Given the description of an element on the screen output the (x, y) to click on. 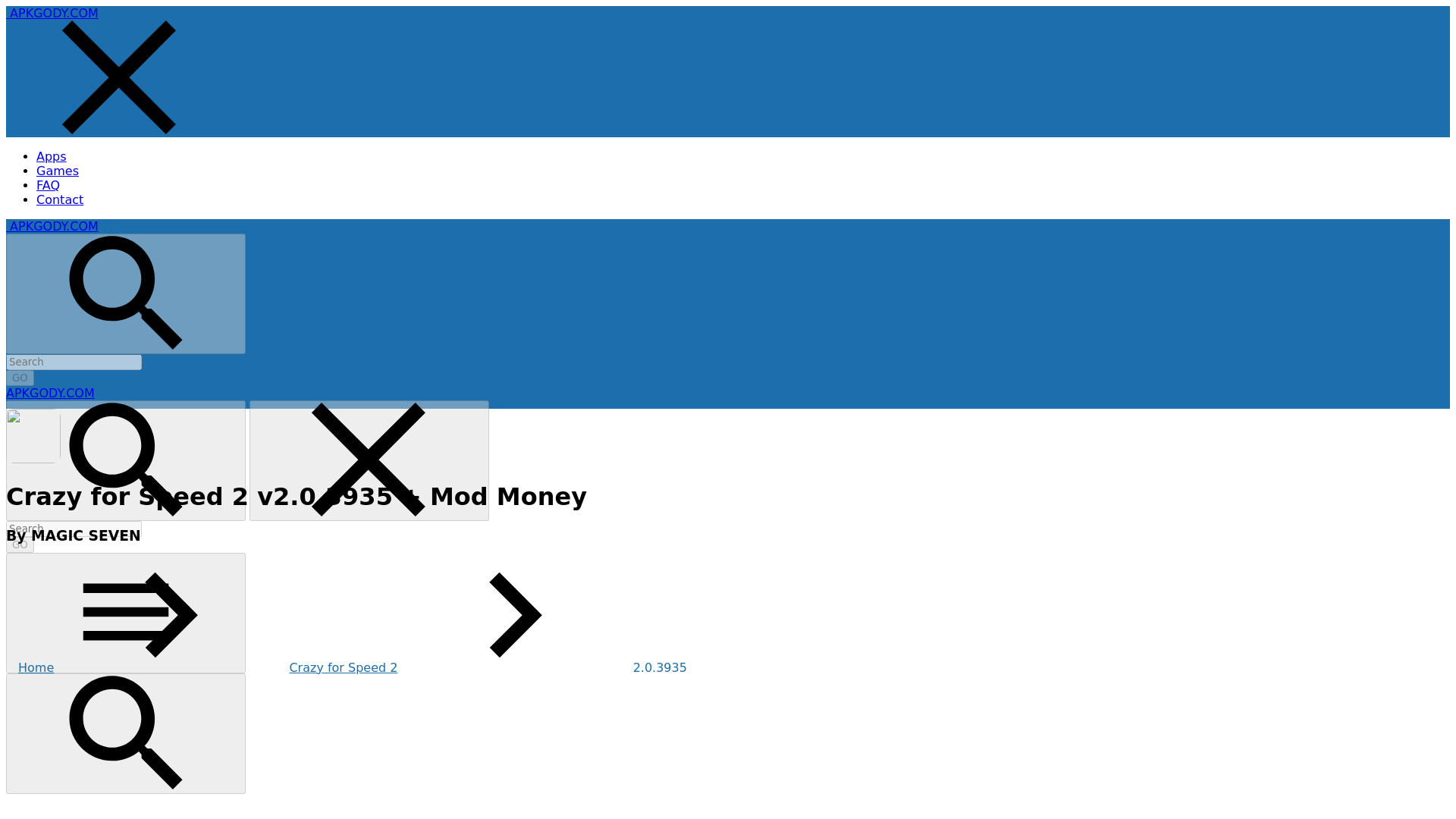
Contact (59, 199)
APKGODY.COM (54, 226)
APKGODY.COM (54, 12)
Android Apps (51, 156)
APKGODY.COM (54, 226)
APKGODY.COM (49, 392)
Contact (59, 199)
FAQ (47, 185)
GO (19, 377)
GO (19, 377)
FAQ (47, 185)
Apps (51, 156)
APKGODY.COM (49, 392)
Android Games (57, 170)
Games (57, 170)
